Given the description of an element on the screen output the (x, y) to click on. 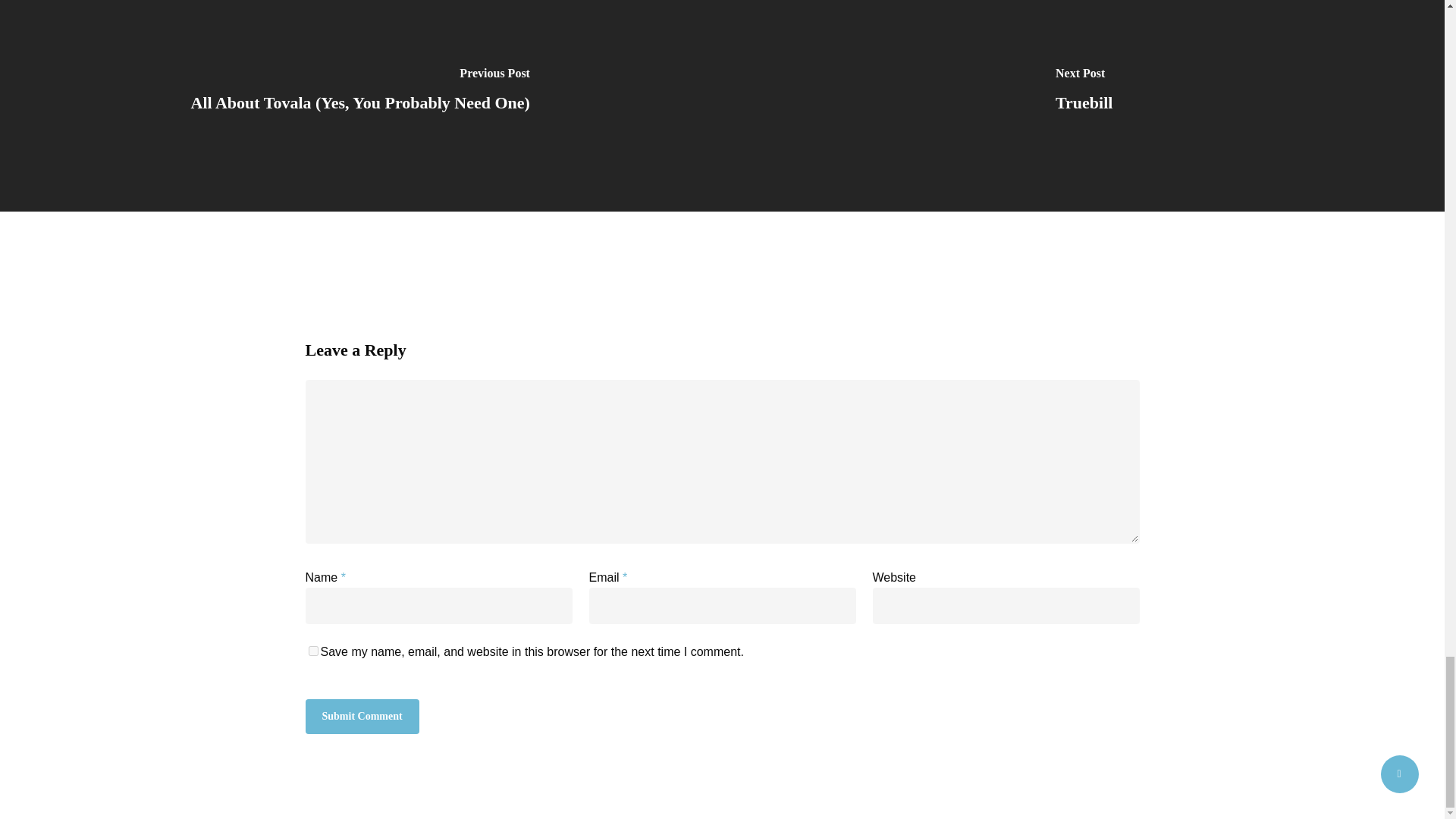
Submit Comment (361, 716)
yes (312, 651)
